Given the description of an element on the screen output the (x, y) to click on. 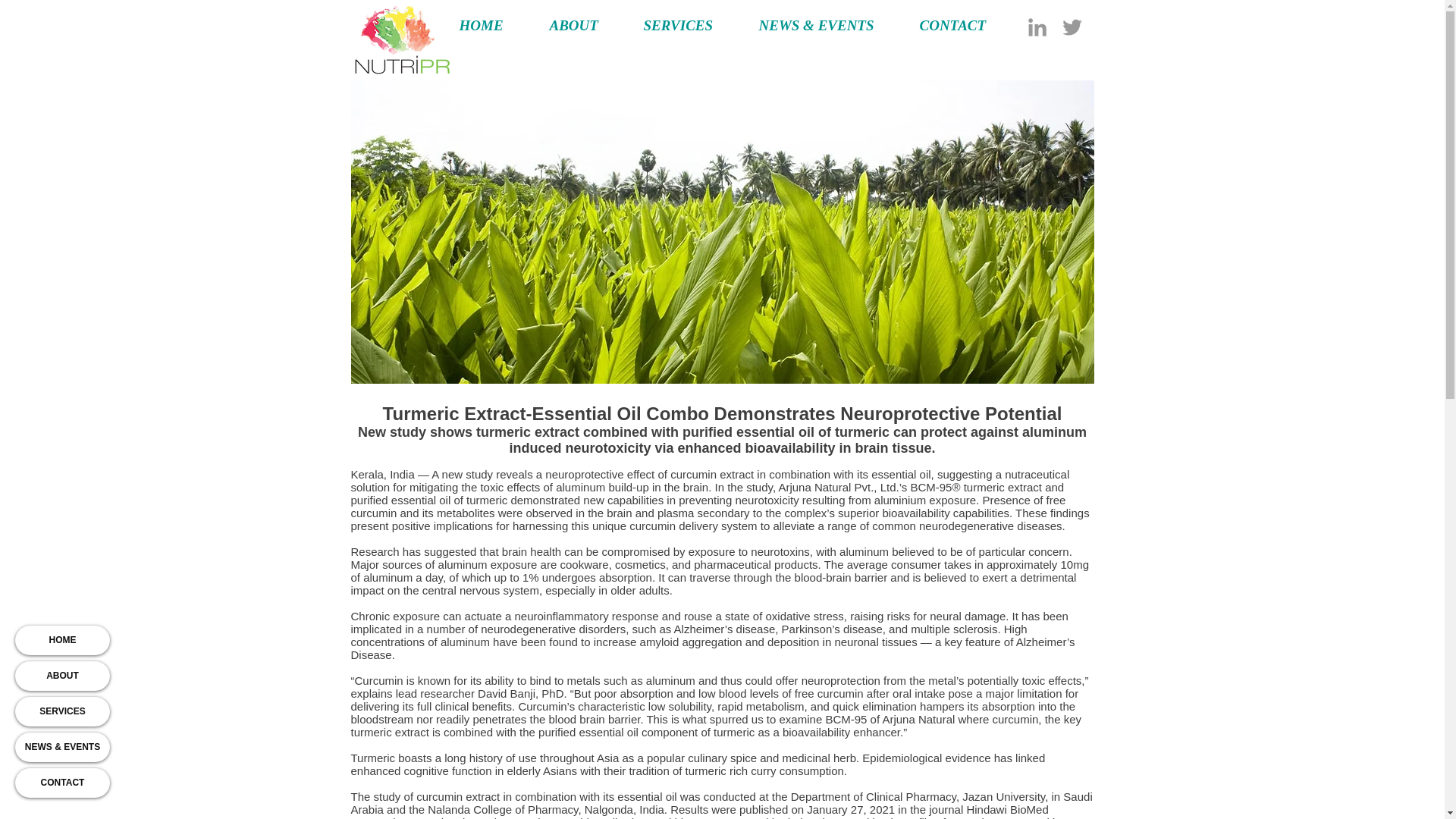
SERVICES (689, 25)
CONTACT (964, 25)
HOME (491, 25)
ABOUT (62, 675)
SERVICES (62, 711)
Twitter Tweet (1070, 395)
CONTACT (62, 782)
ABOUT (584, 25)
HOME (62, 640)
